Given the description of an element on the screen output the (x, y) to click on. 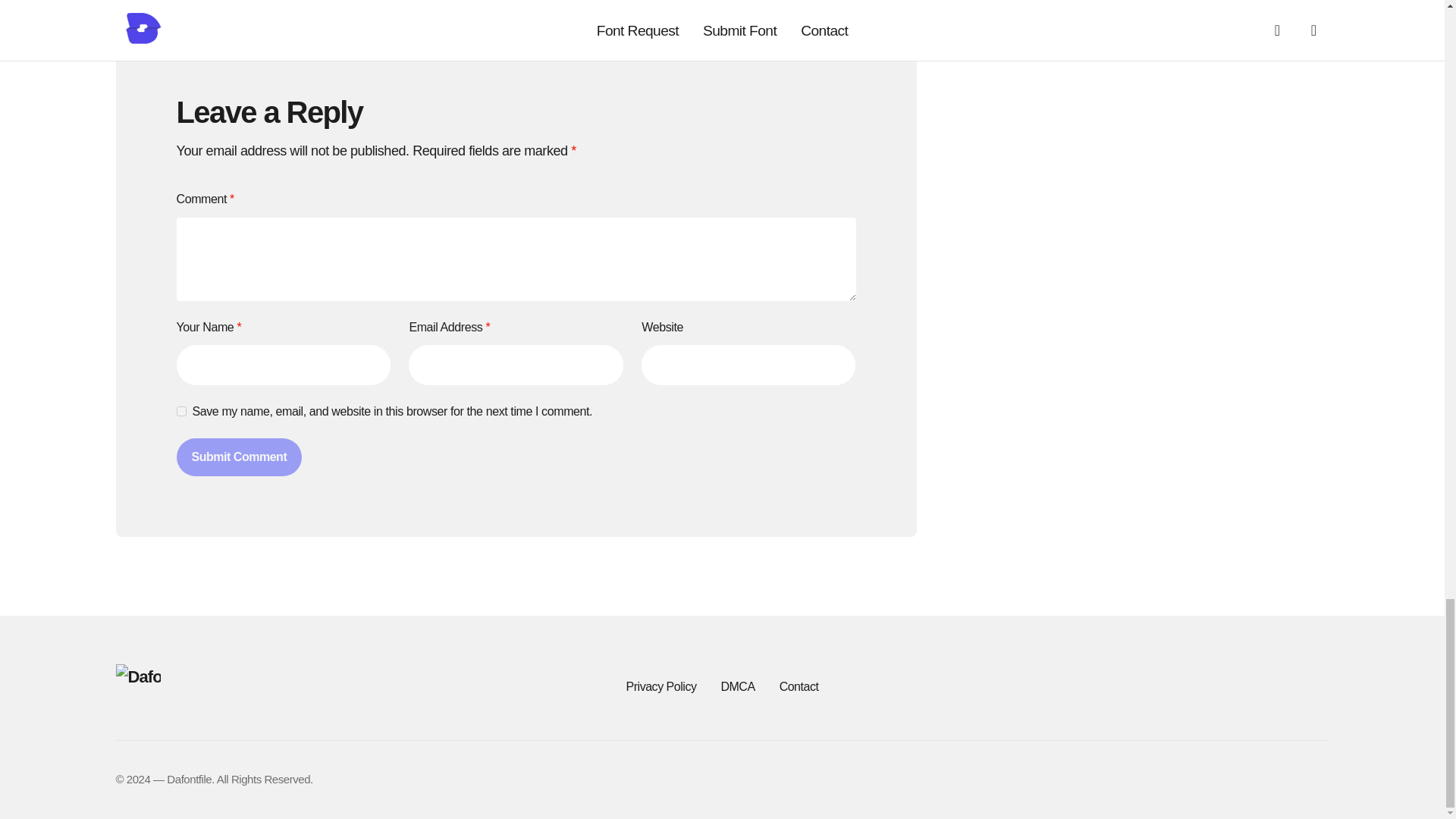
yes (181, 411)
